Given the description of an element on the screen output the (x, y) to click on. 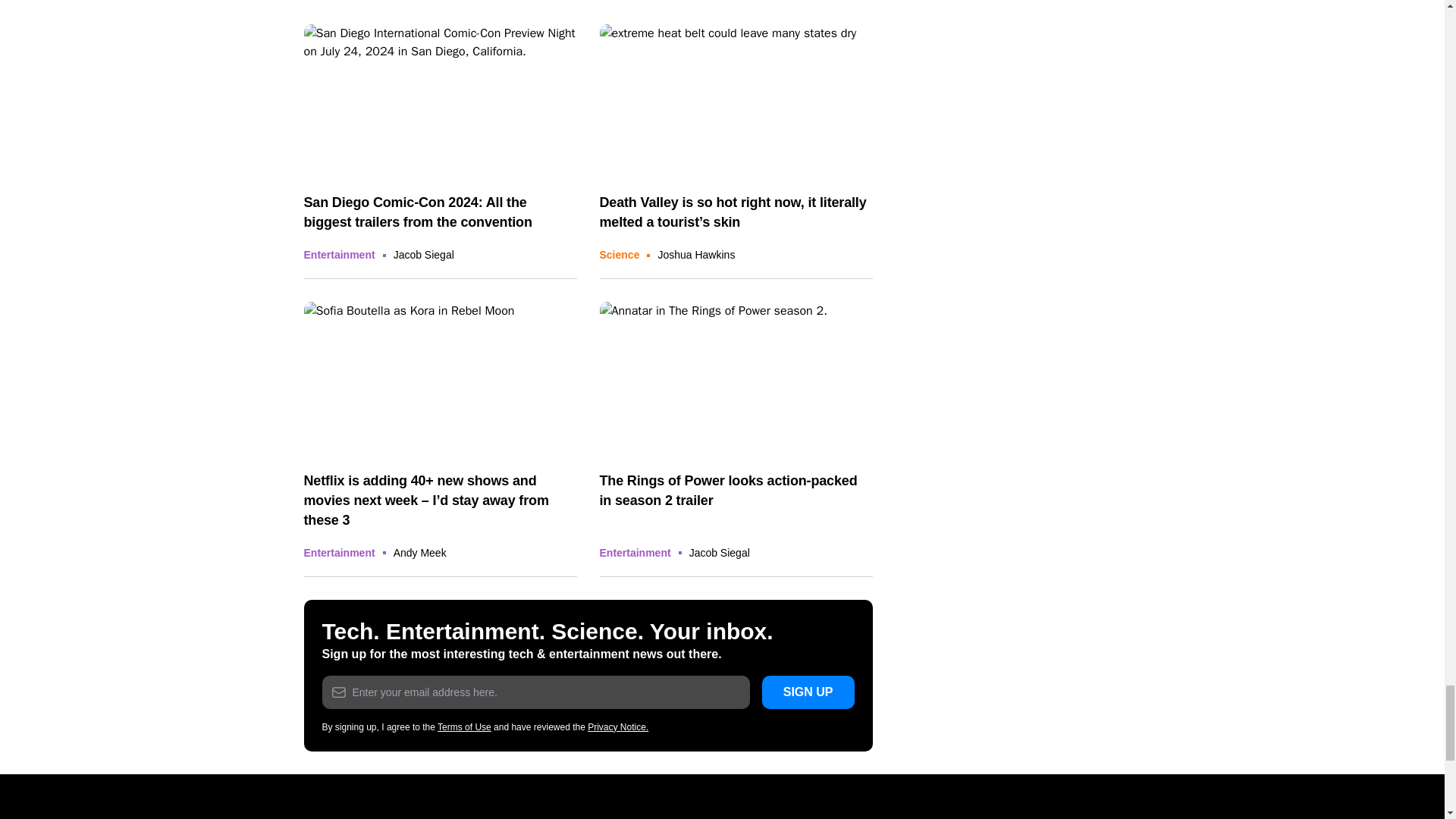
Netflix (439, 378)
death valley heat levels (735, 101)
The Rings of Power (735, 378)
Posts by Jacob Siegal (423, 254)
Posts by Andy Meek (419, 552)
Posts by Joshua Hawkins (696, 254)
Comic-Con (439, 101)
Posts by Jacob Siegal (718, 552)
